Given the description of an element on the screen output the (x, y) to click on. 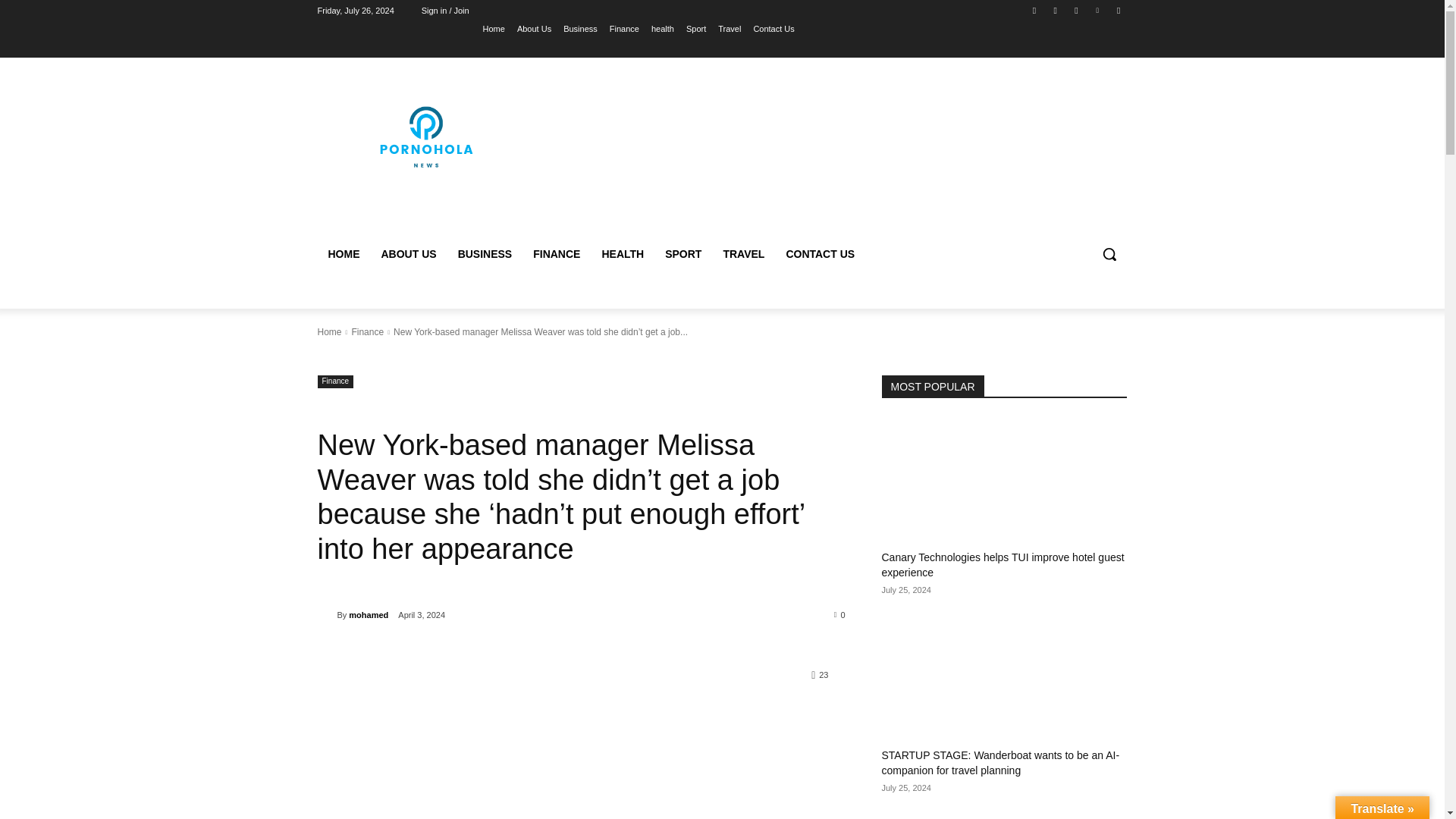
Sport (695, 28)
Instagram (1055, 9)
SPORT (682, 253)
Home (328, 331)
health (662, 28)
HOME (343, 253)
mohamed (326, 614)
Youtube (1117, 9)
CONTACT US (819, 253)
Business (579, 28)
FINANCE (556, 253)
HEALTH (622, 253)
BUSINESS (484, 253)
View all posts in Finance (367, 331)
Contact Us (772, 28)
